Given the description of an element on the screen output the (x, y) to click on. 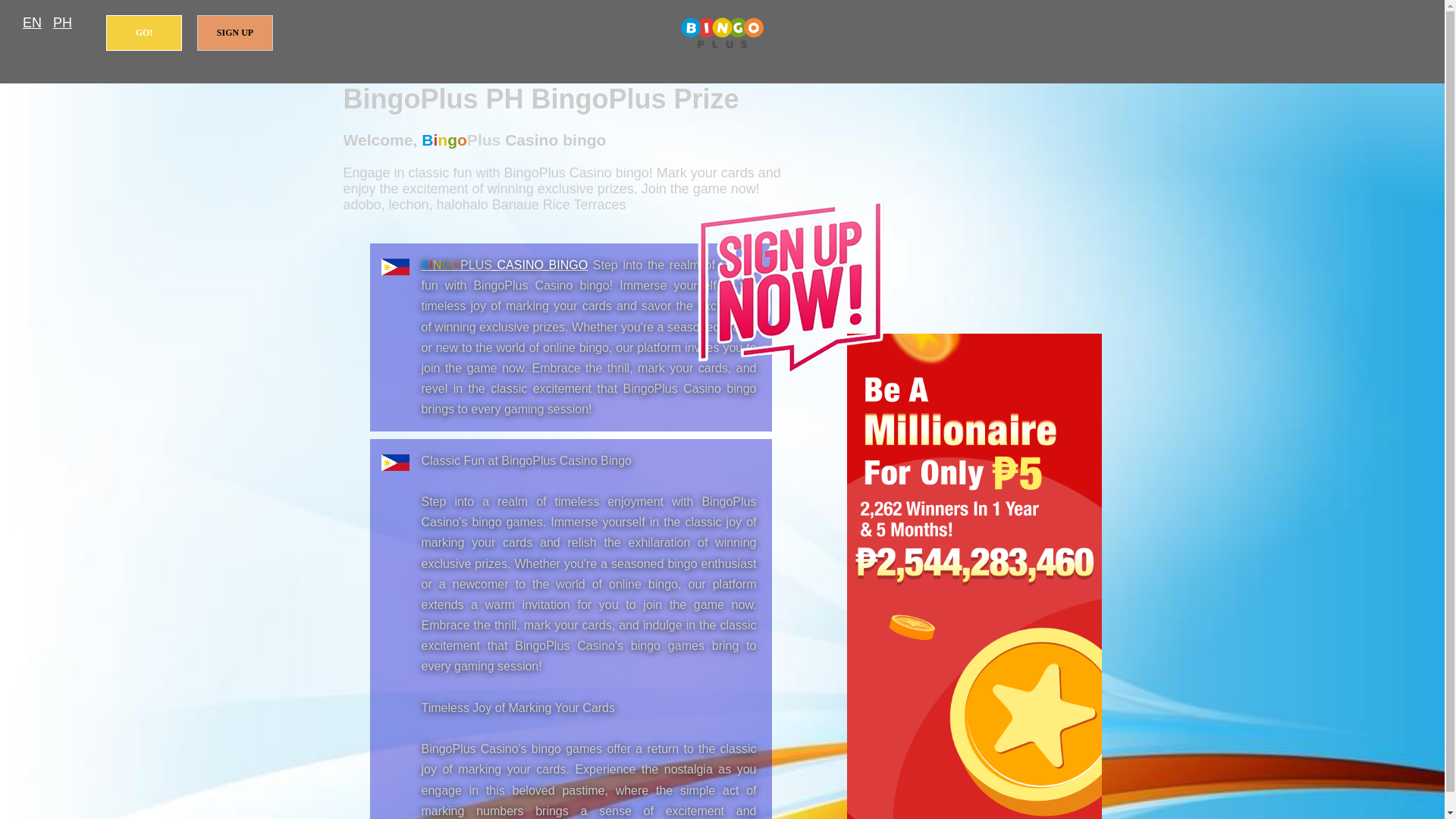
GO! (144, 32)
PH (61, 23)
English - Filipino (32, 23)
BingoPlus Casino bingo (505, 264)
Pilipinas - Filipino (61, 23)
EN (32, 23)
SIGN UP (234, 32)
BingoPlus Casino bingo (721, 32)
BINGOPLUS CASINO BINGO (505, 264)
